Given the description of an element on the screen output the (x, y) to click on. 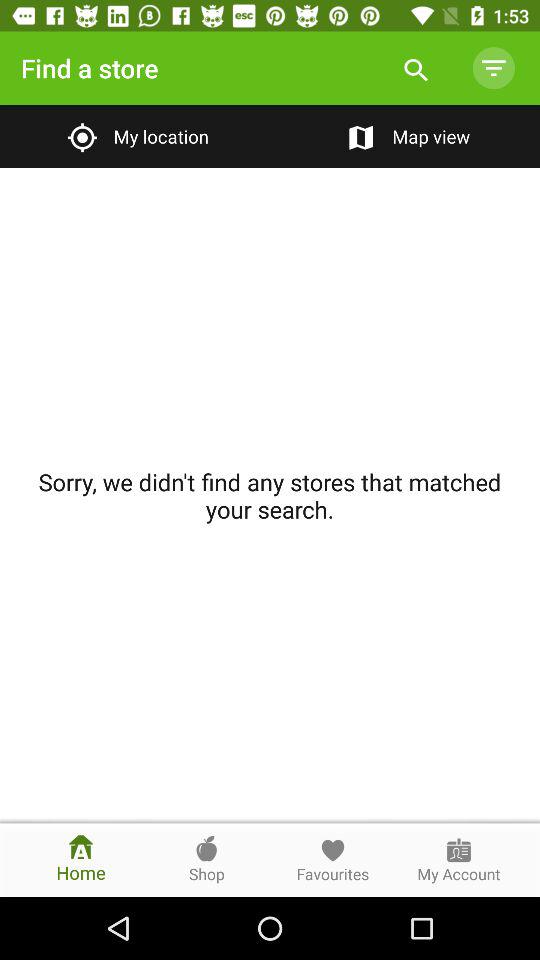
select the icon next to the map view item (134, 136)
